Given the description of an element on the screen output the (x, y) to click on. 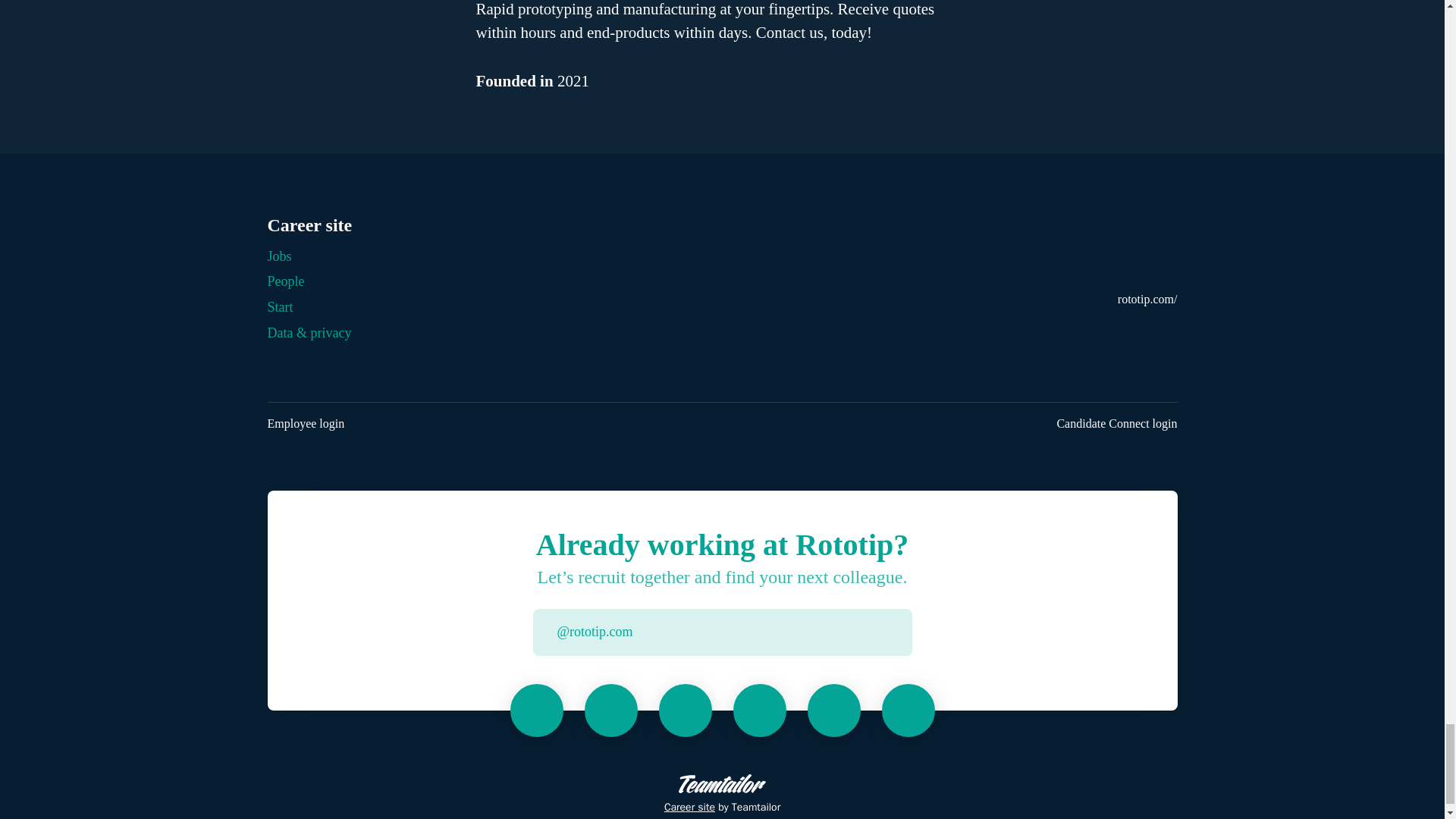
linkedin (1173, 329)
Onur Ozturk (759, 710)
Galip Okan Ozturk (685, 710)
Jobs (278, 255)
Bart Nowak (610, 710)
Start (279, 306)
Log in (899, 632)
People (285, 281)
